Given the description of an element on the screen output the (x, y) to click on. 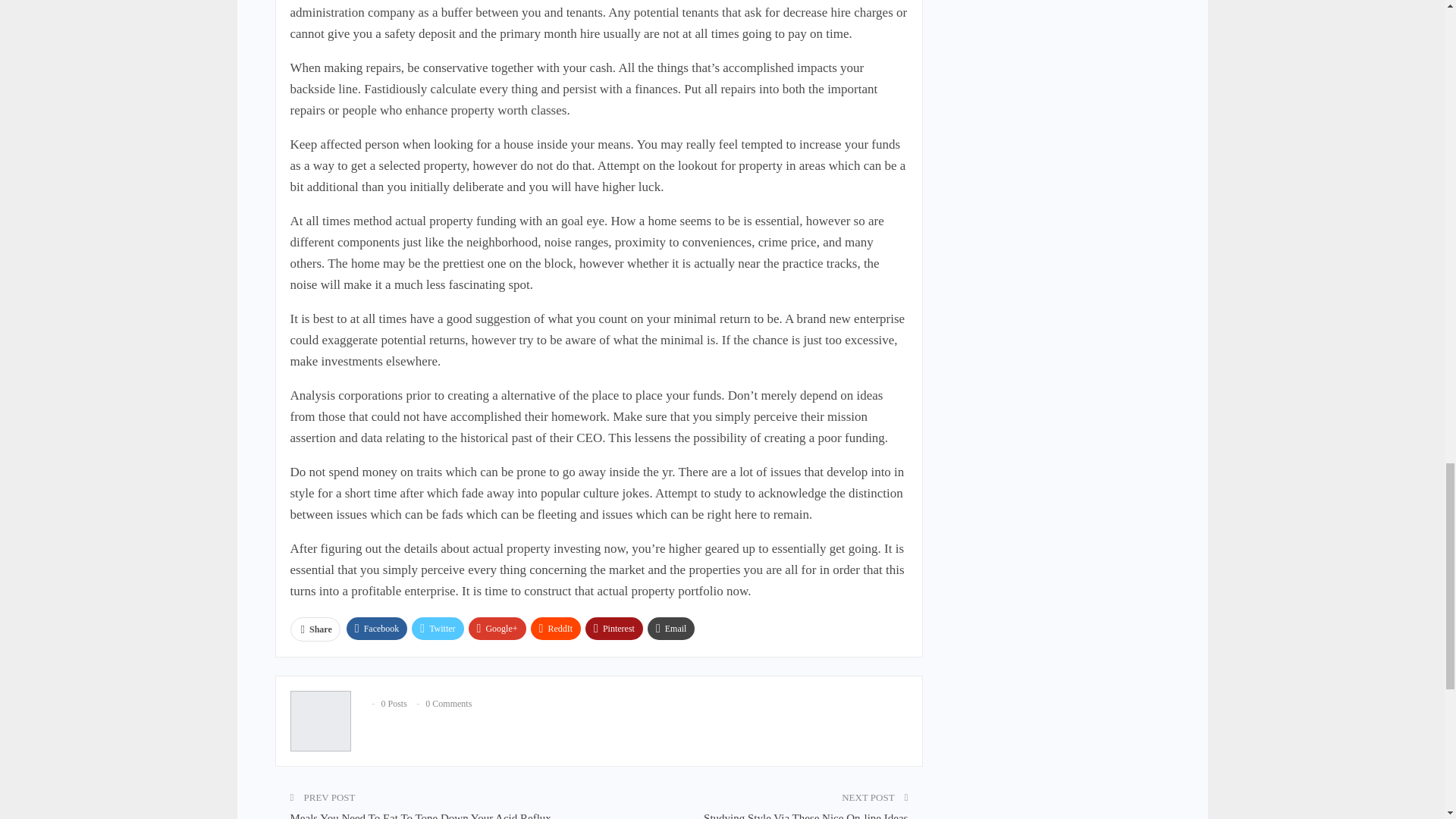
Studying Style Via These Nice On-line Ideas (805, 815)
Pinterest (614, 628)
Meals You Need To Eat To Tone Down Your Acid Reflux. (421, 815)
ReddIt (555, 628)
Twitter (437, 628)
Email (671, 628)
Facebook (376, 628)
